Given the description of an element on the screen output the (x, y) to click on. 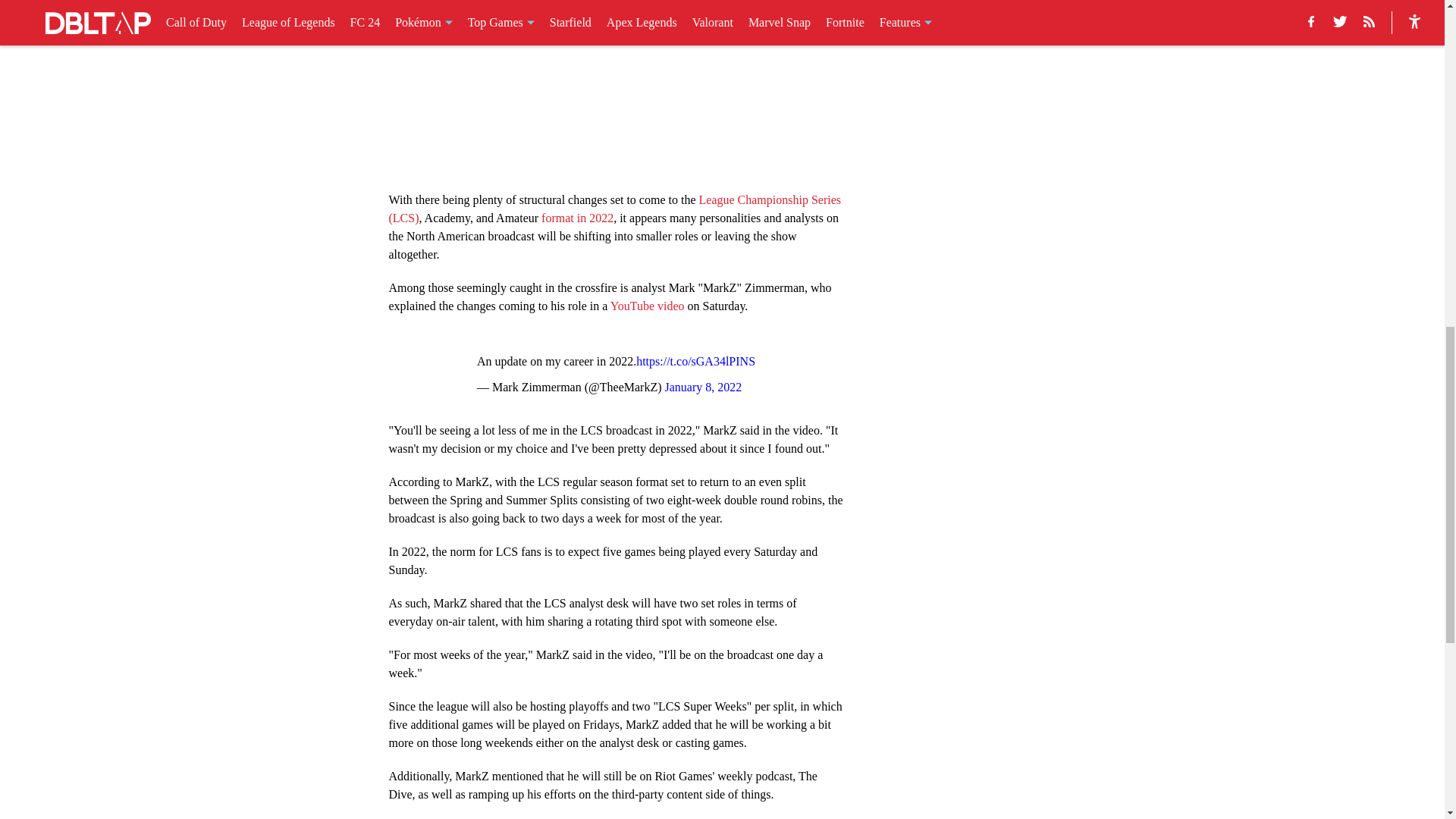
YouTube video (647, 305)
January 8, 2022 (703, 386)
format in 2022 (576, 216)
